Given the description of an element on the screen output the (x, y) to click on. 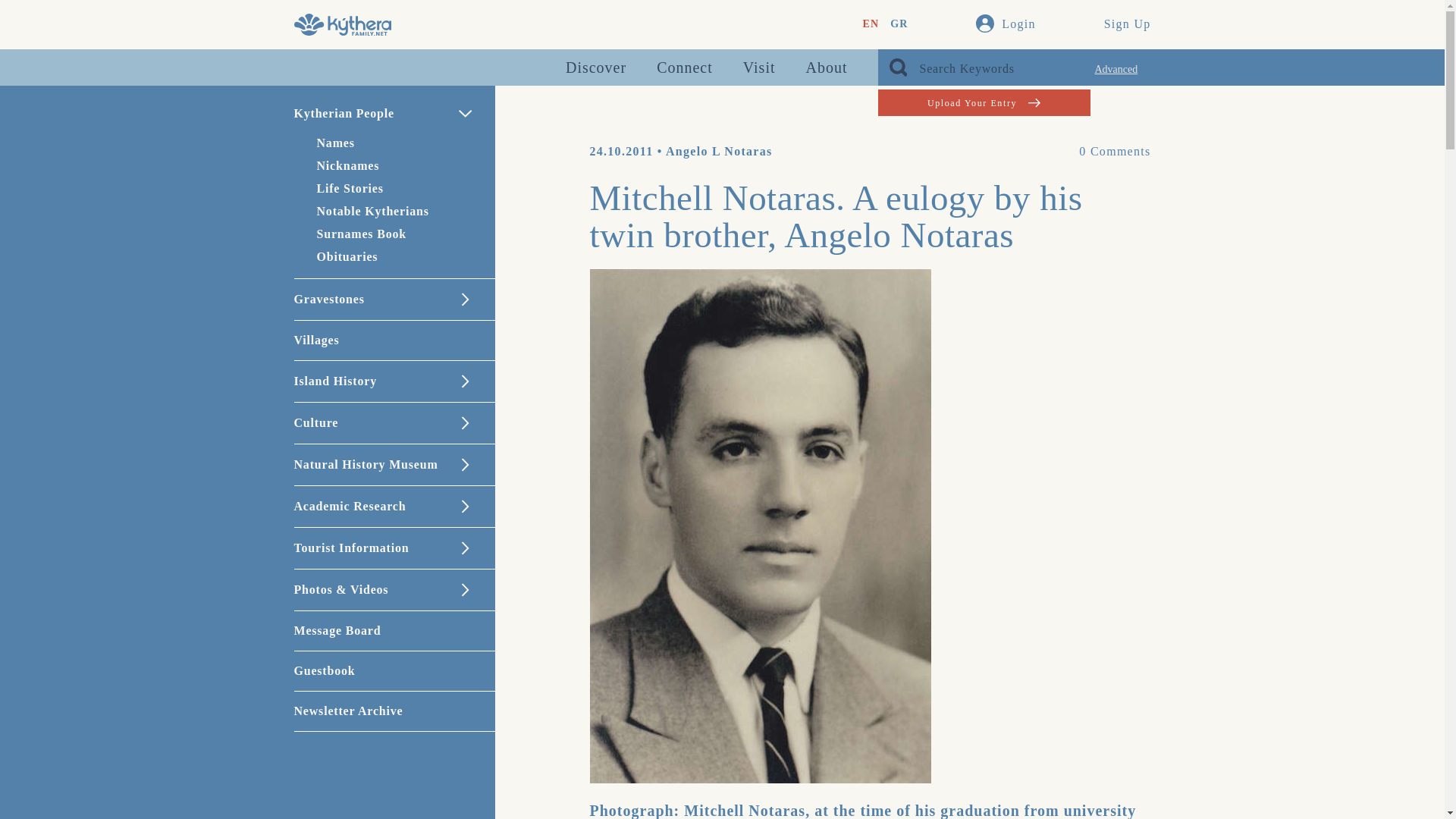
Sign Up (1127, 24)
Login (1005, 24)
Names (336, 142)
Island History (394, 381)
Life Stories (350, 187)
EN (871, 24)
Gravestones (394, 299)
Obituaries (347, 256)
Nicknames (348, 164)
Kytherian People (394, 113)
Life Stories (350, 187)
GR (898, 24)
Academic Research (394, 506)
Obituaries (347, 256)
Surnames Book (361, 233)
